Given the description of an element on the screen output the (x, y) to click on. 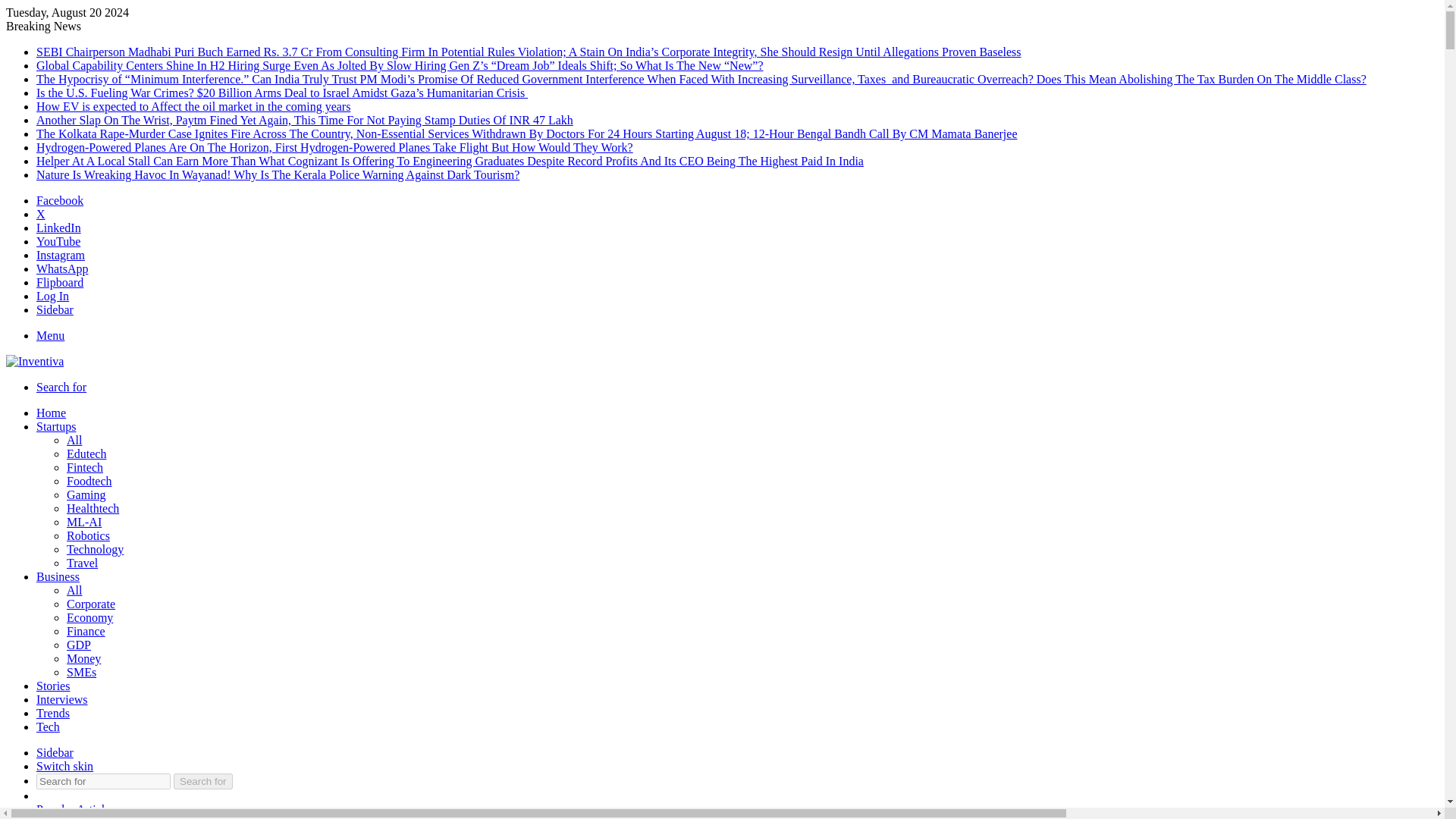
Switch skin (64, 766)
Healthtech (92, 508)
Corporate (90, 603)
Technology (94, 549)
Robotics (88, 535)
Menu (50, 335)
Fintech (84, 467)
Flipboard (59, 282)
Instagram (60, 254)
GDP (78, 644)
